Given the description of an element on the screen output the (x, y) to click on. 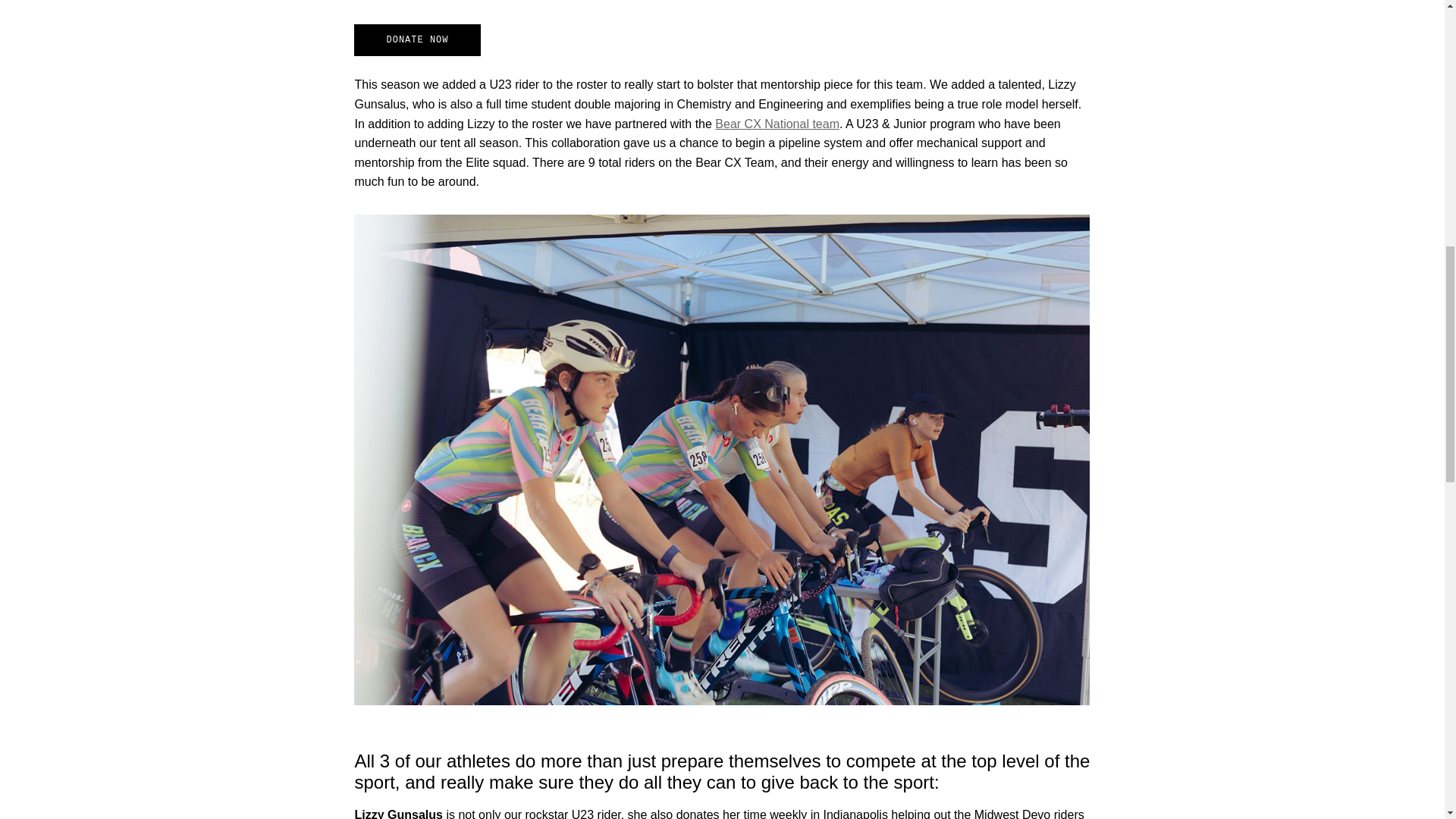
DONATE NOW (416, 40)
Bear CX National team (777, 123)
